Given the description of an element on the screen output the (x, y) to click on. 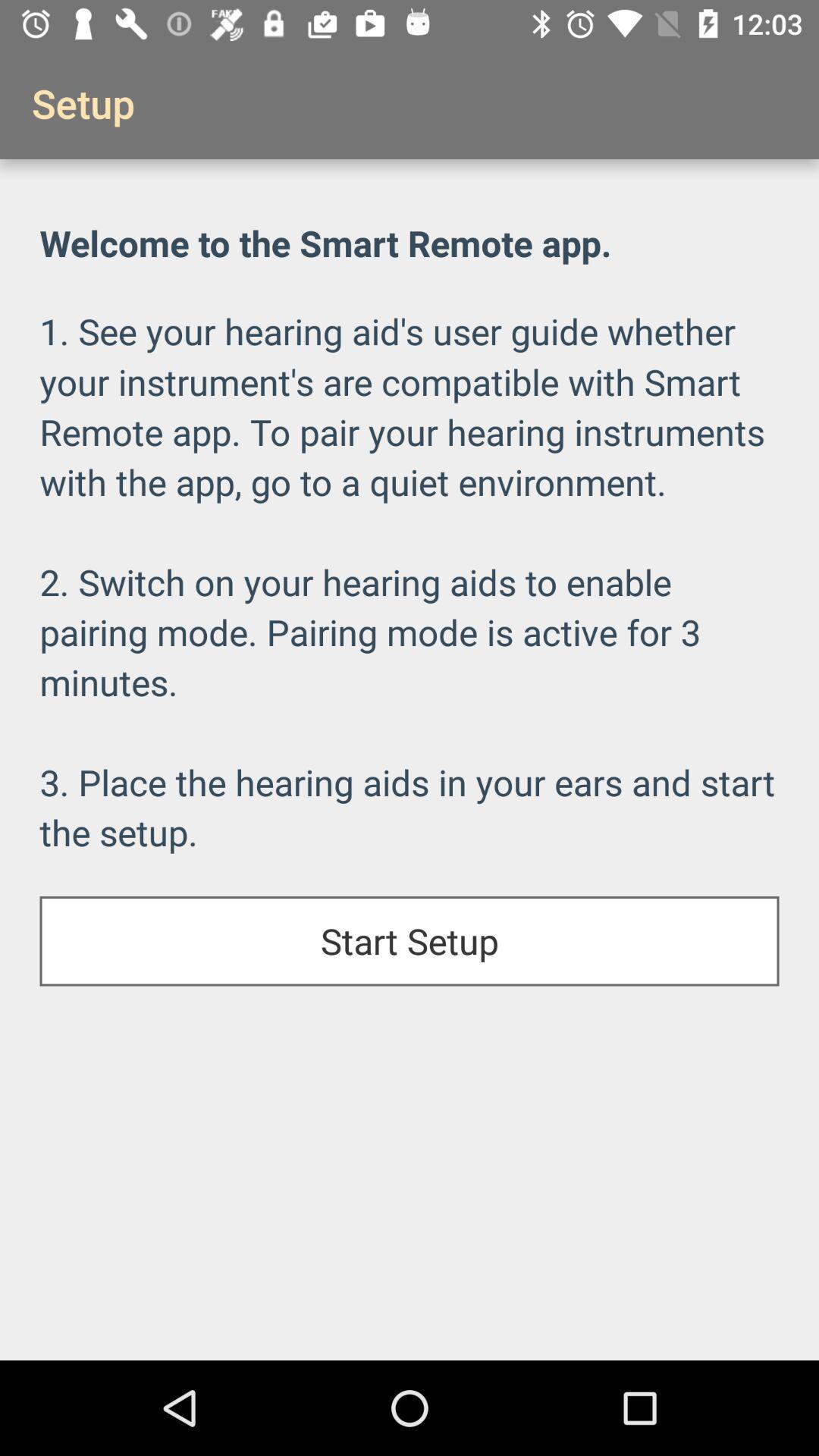
click the start setup (409, 941)
